Given the description of an element on the screen output the (x, y) to click on. 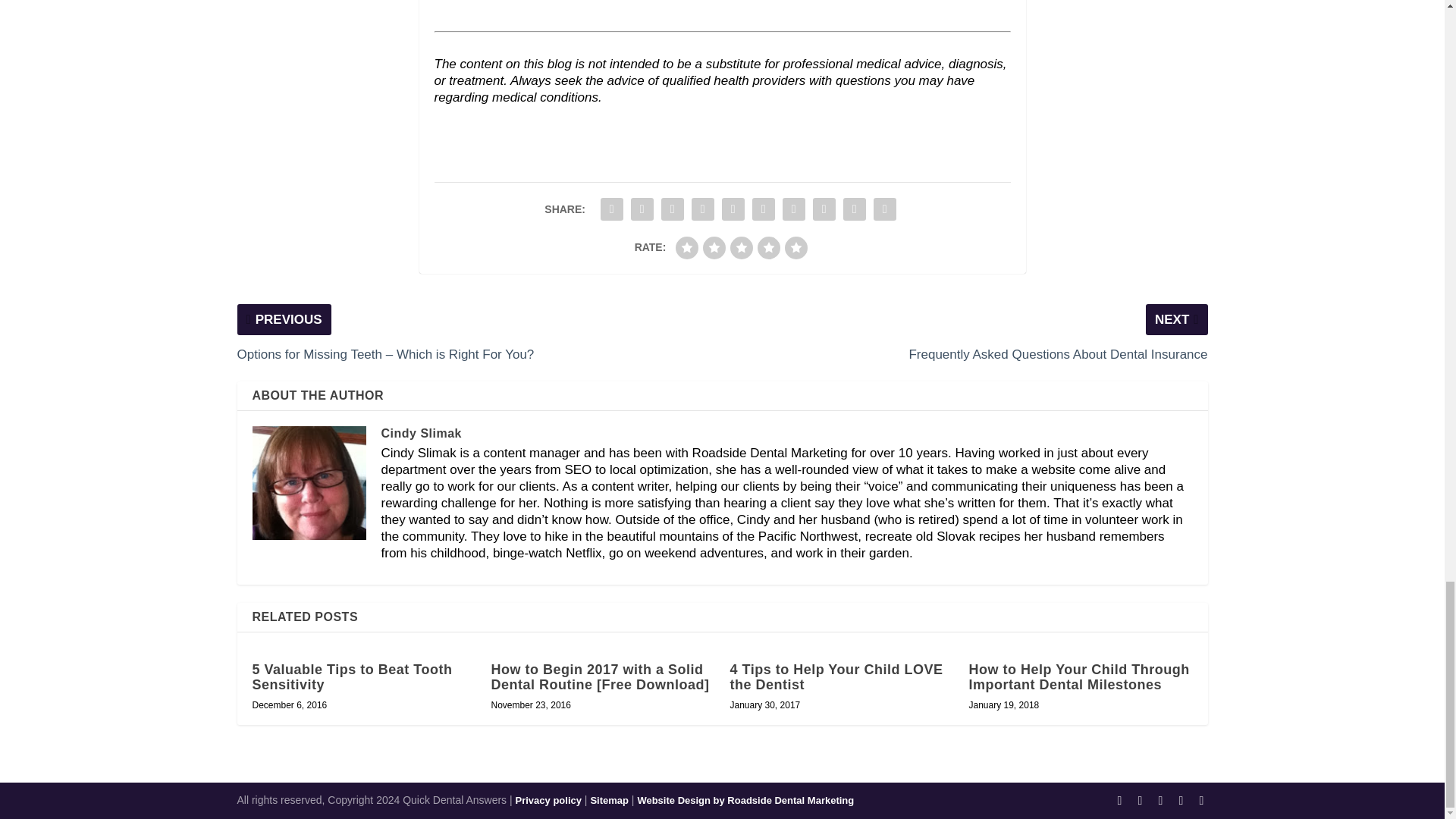
bad (686, 247)
